Given the description of an element on the screen output the (x, y) to click on. 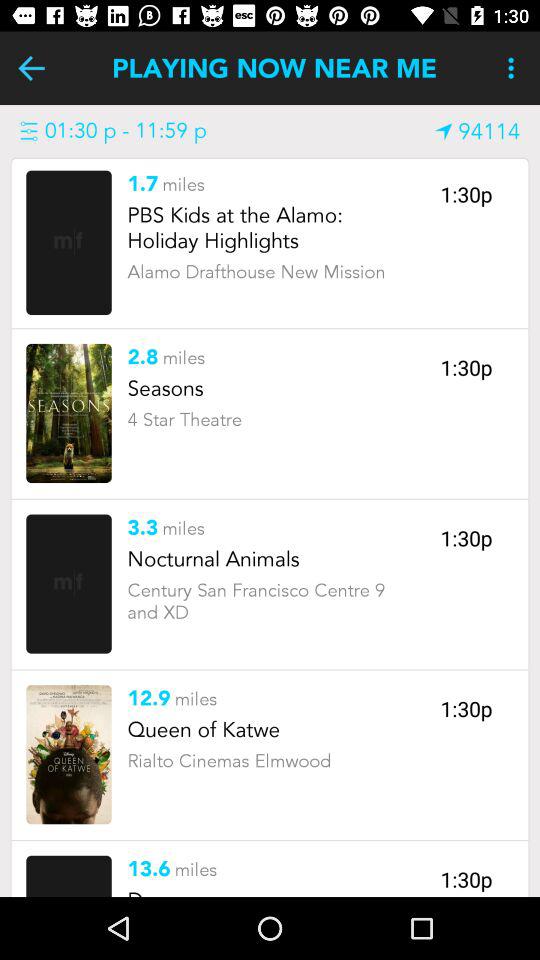
toggle a select option (68, 413)
